Given the description of an element on the screen output the (x, y) to click on. 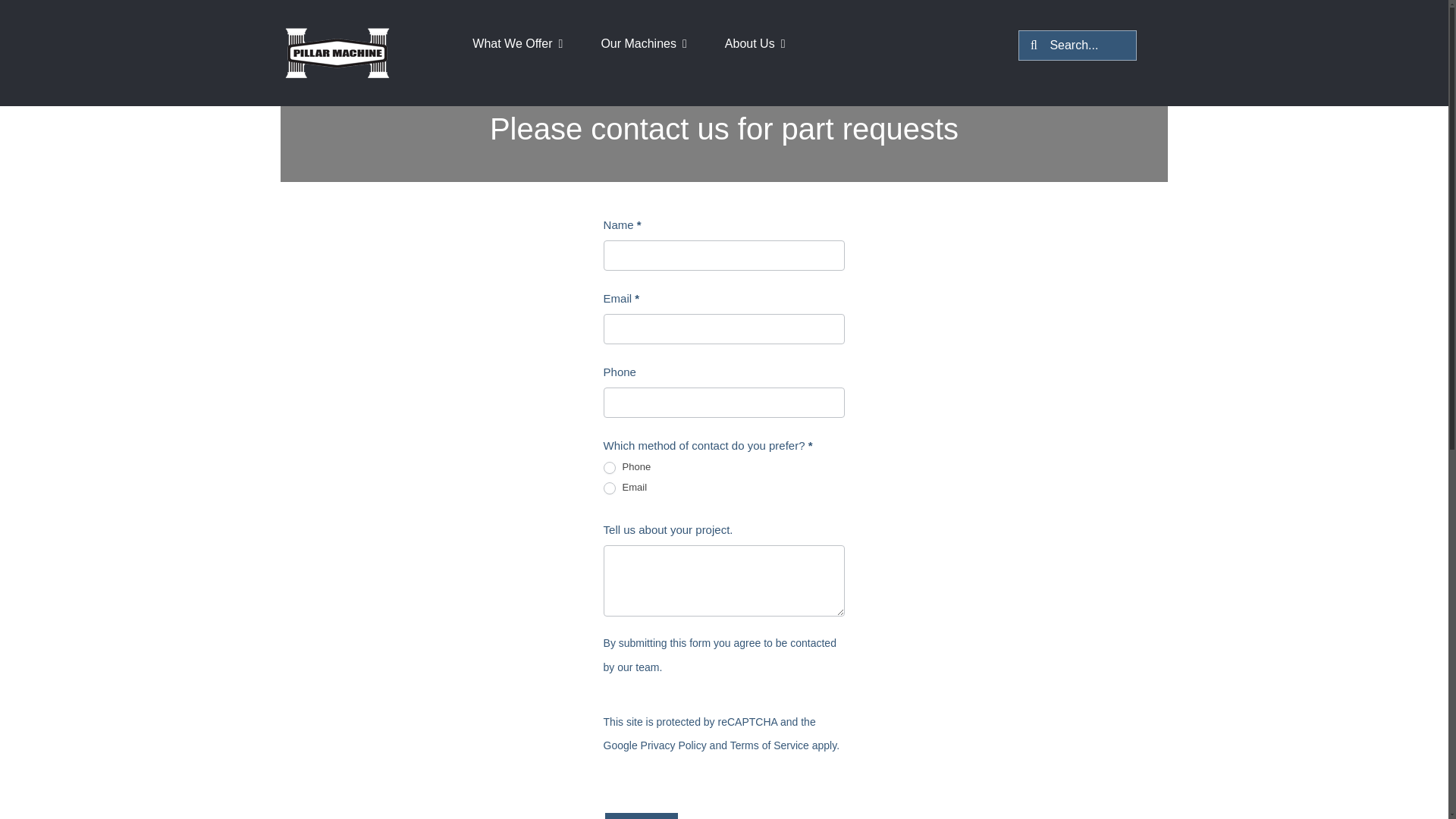
Our Machines (654, 28)
Email (609, 488)
Our Machines (654, 28)
What We Offer (528, 28)
Phone (609, 467)
What We Offer (528, 28)
